Given the description of an element on the screen output the (x, y) to click on. 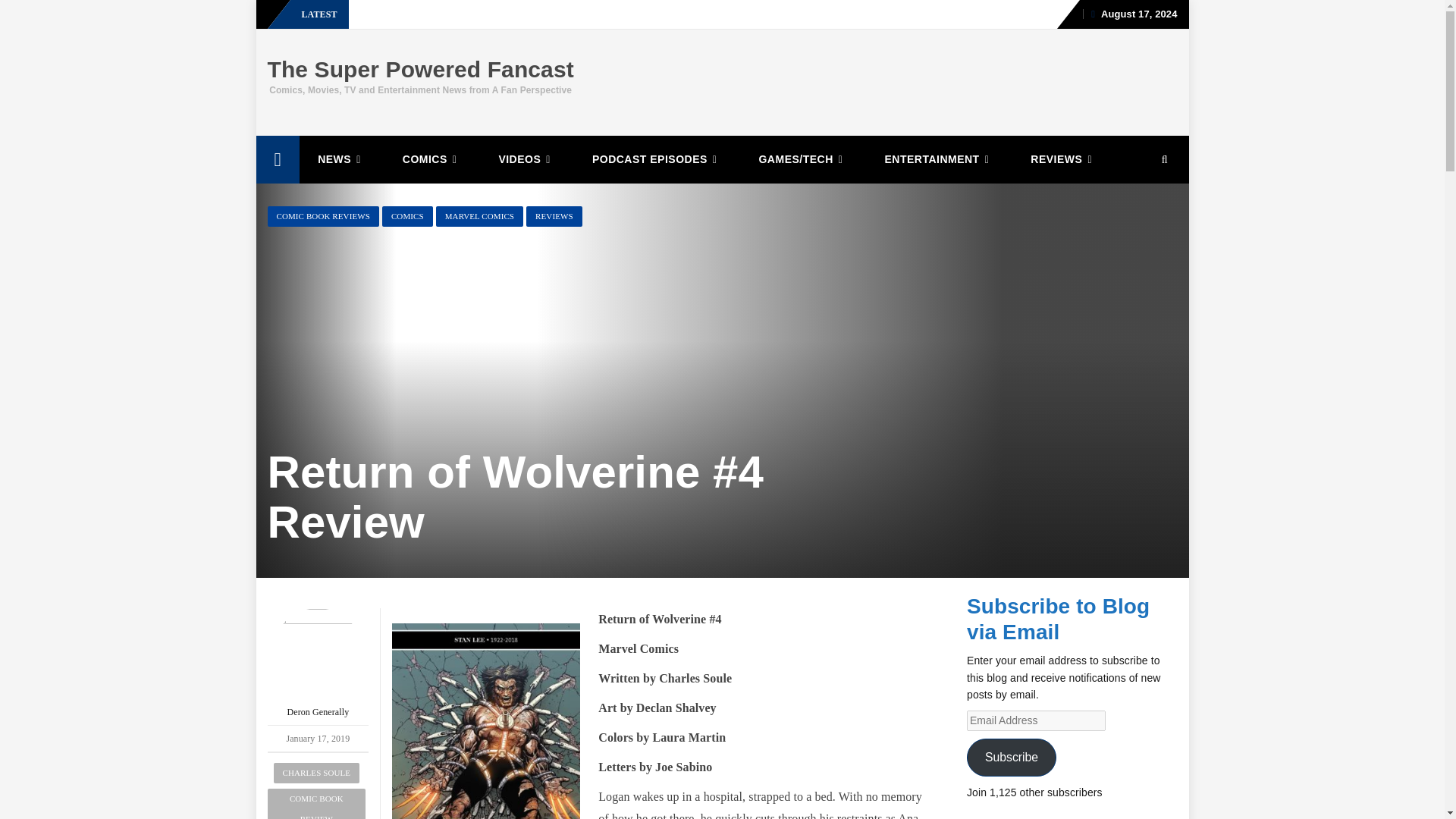
The Super Powered Fancast (419, 68)
The Super Powered Fancast (419, 68)
NEWS (341, 159)
COMICS (432, 159)
VIDEOS (526, 159)
The Super Powered Fancast (277, 159)
